Given the description of an element on the screen output the (x, y) to click on. 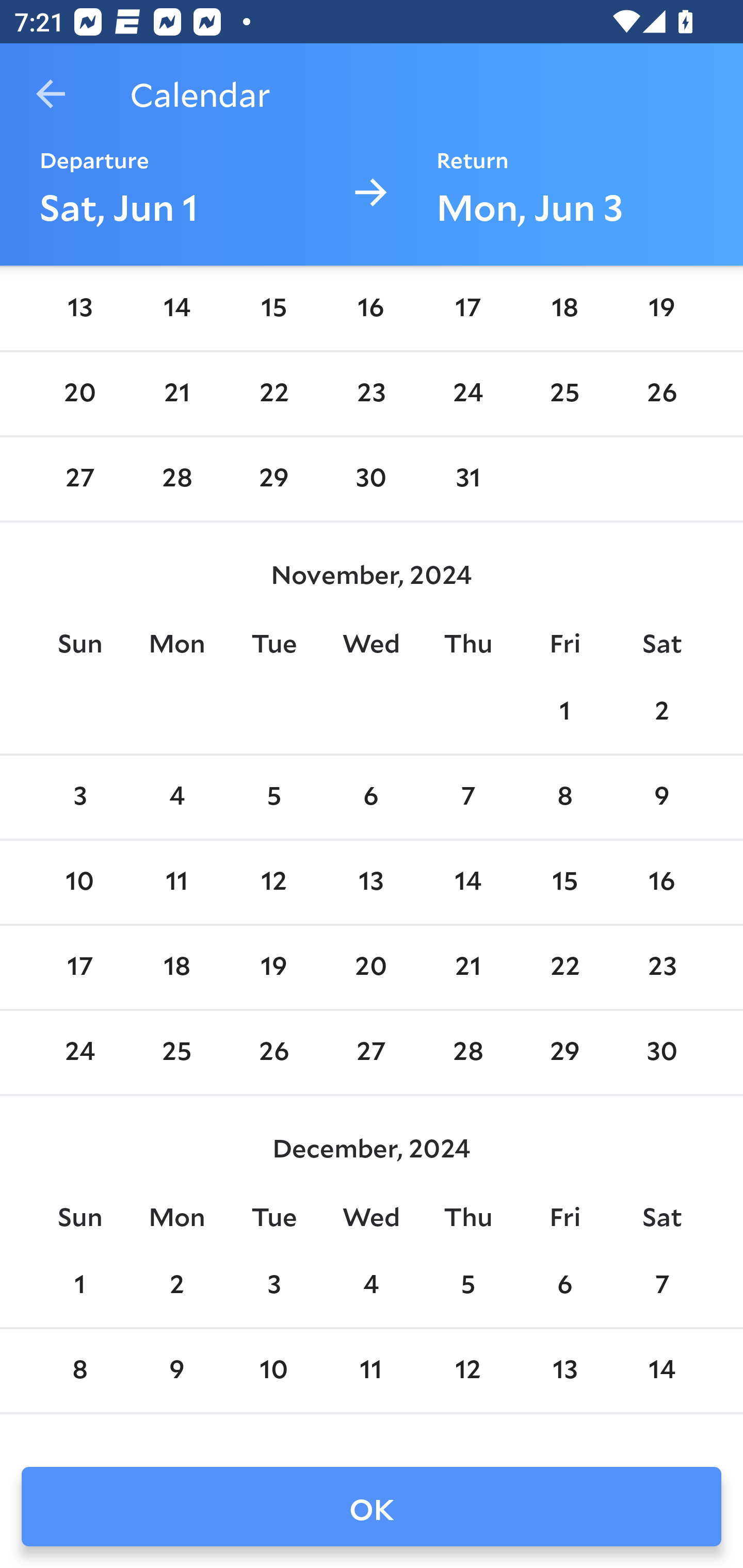
Navigate up (50, 93)
13 (79, 308)
14 (177, 308)
15 (273, 308)
16 (371, 308)
17 (467, 308)
18 (565, 308)
19 (661, 308)
20 (79, 393)
21 (177, 393)
22 (273, 393)
23 (371, 393)
24 (467, 393)
25 (565, 393)
26 (661, 393)
27 (79, 479)
28 (177, 479)
29 (273, 479)
30 (371, 479)
31 (467, 479)
1 (565, 711)
2 (661, 711)
3 (79, 798)
4 (177, 798)
5 (273, 798)
6 (371, 798)
7 (467, 798)
8 (565, 798)
9 (661, 798)
10 (79, 882)
11 (177, 882)
12 (273, 882)
13 (371, 882)
14 (467, 882)
15 (565, 882)
16 (661, 882)
17 (79, 967)
18 (177, 967)
19 (273, 967)
20 (371, 967)
21 (467, 967)
22 (565, 967)
23 (661, 967)
24 (79, 1052)
25 (177, 1052)
26 (273, 1052)
27 (371, 1052)
28 (467, 1052)
29 (565, 1052)
30 (661, 1052)
